Given the description of an element on the screen output the (x, y) to click on. 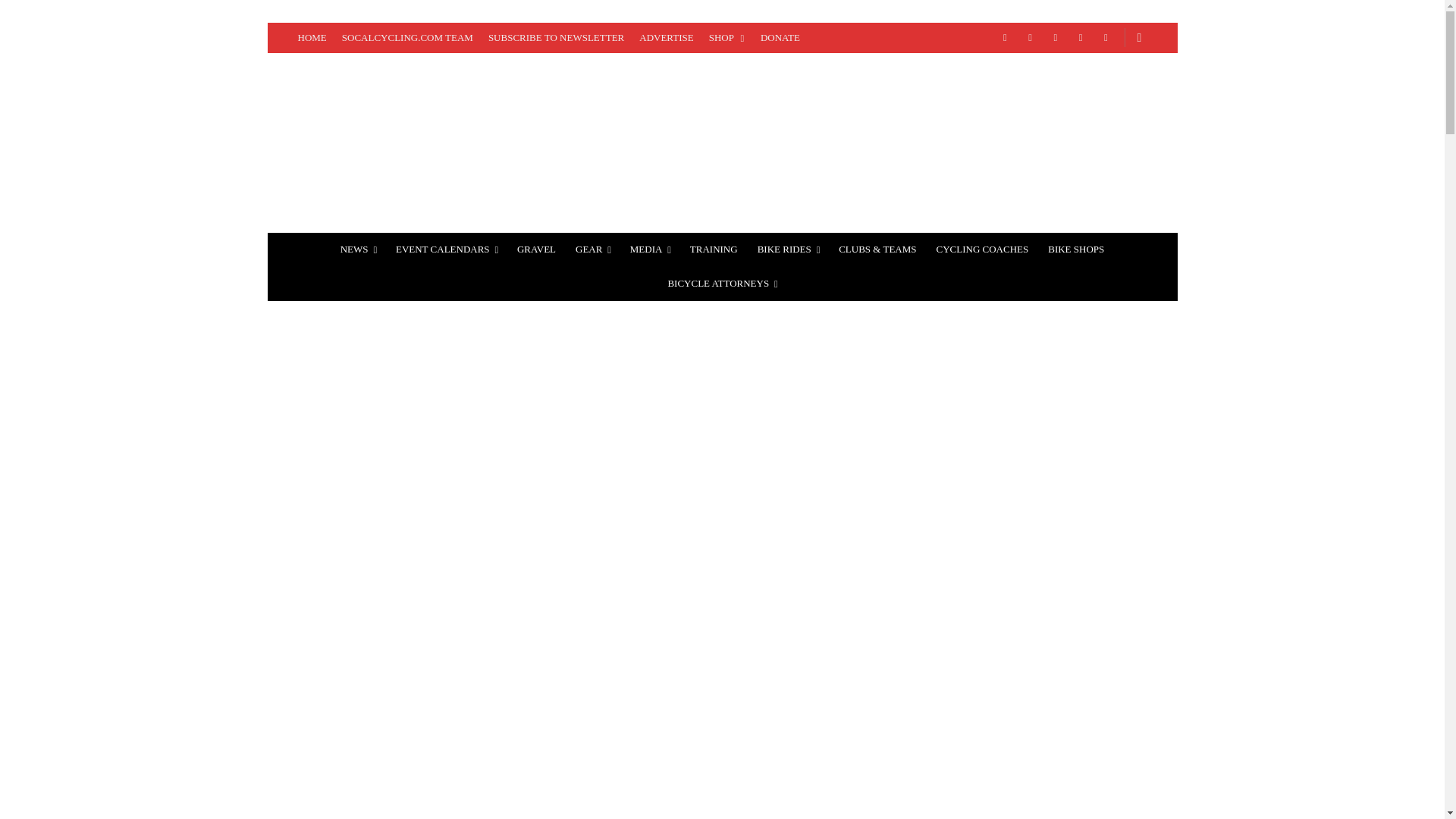
HOME (311, 37)
SOCALCYCLING.COM TEAM (407, 37)
SUBSCRIBE TO NEWSLETTER (555, 37)
DONATE (780, 37)
NEWS (357, 249)
SHOP (726, 37)
ADVERTISE (665, 37)
